Given the description of an element on the screen output the (x, y) to click on. 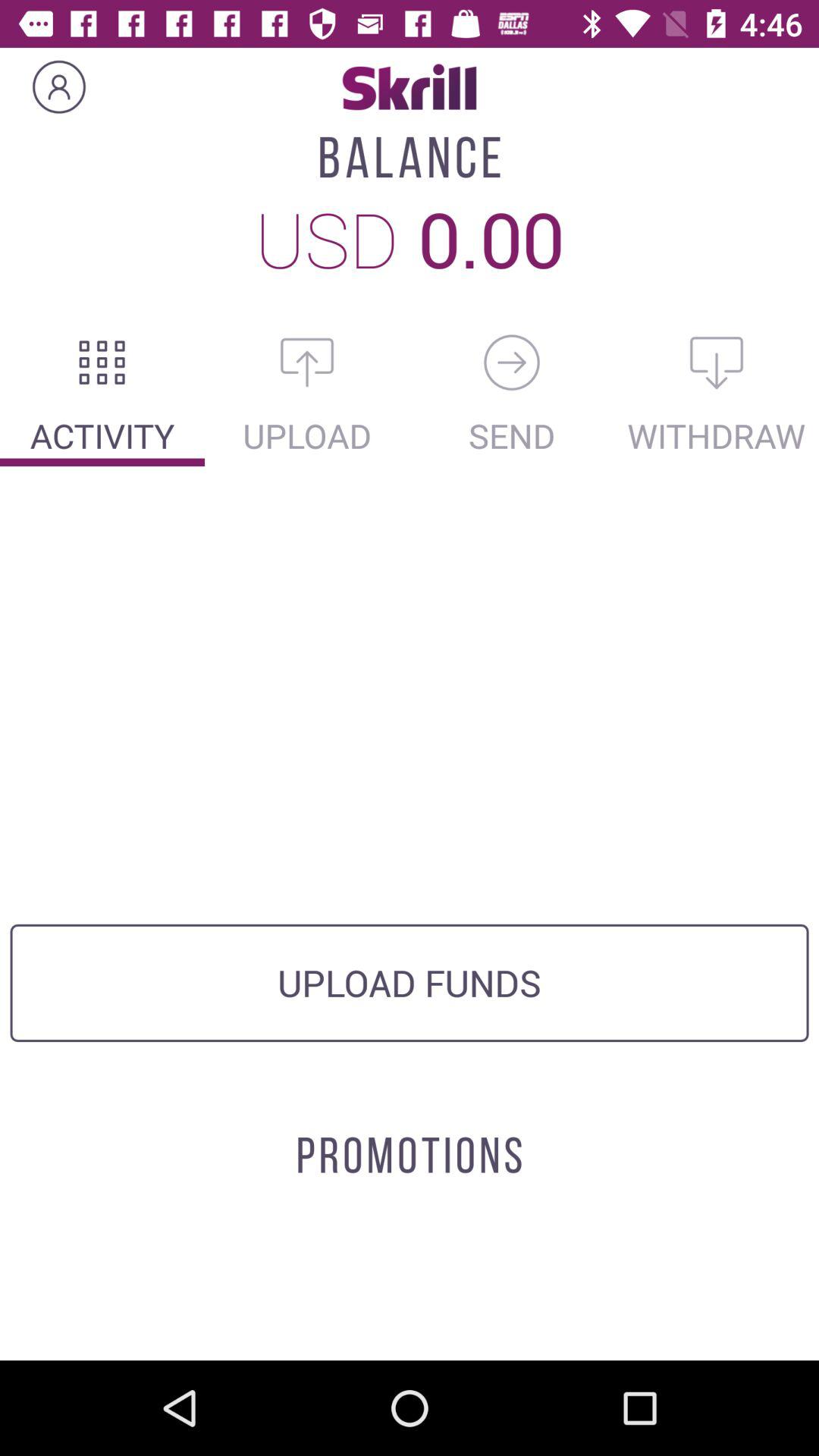
click upload (306, 362)
